Given the description of an element on the screen output the (x, y) to click on. 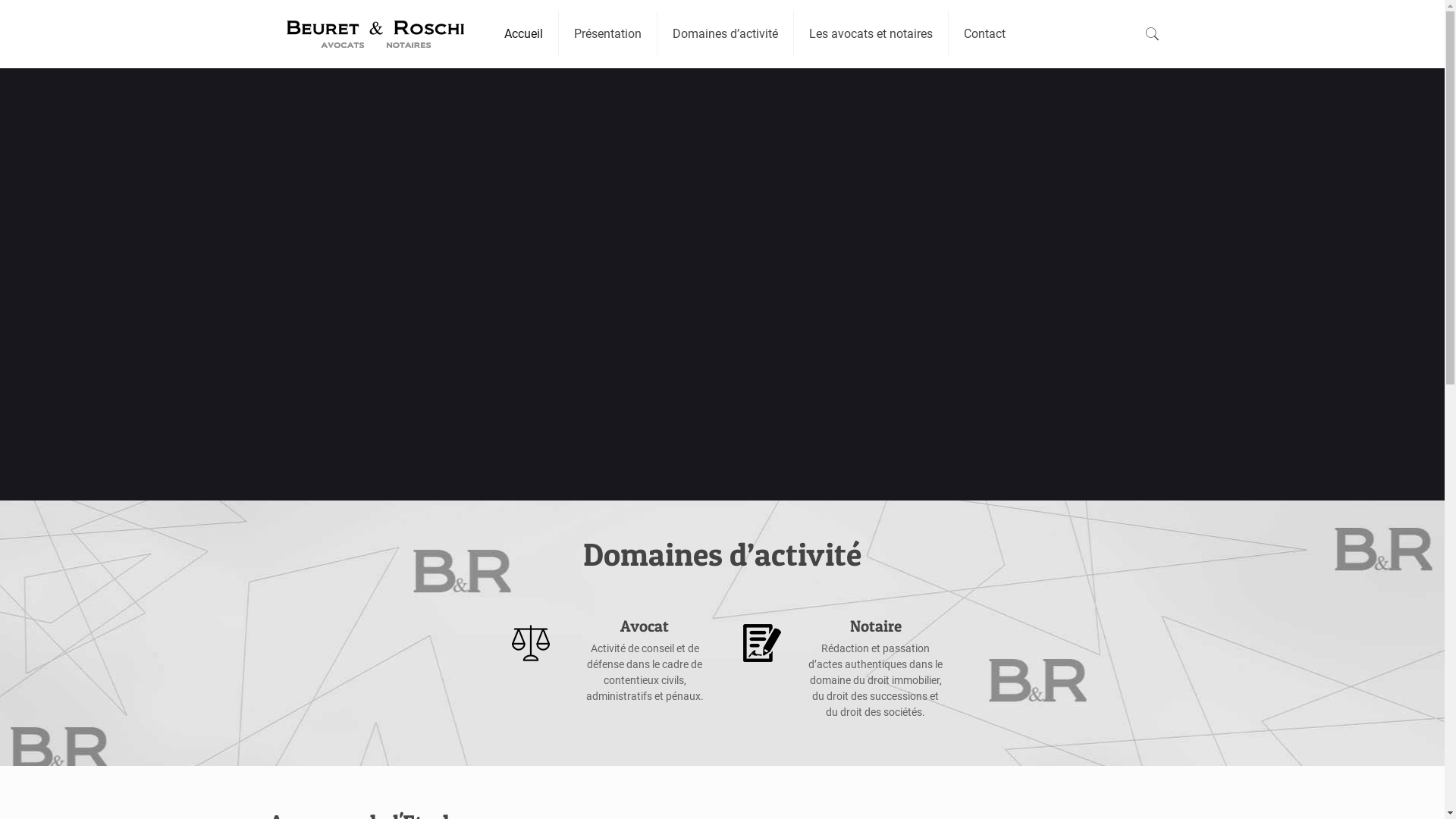
Contact Element type: text (984, 34)
Accueil Element type: text (523, 34)
Etude Beuret & Roschi Element type: hover (375, 34)
Les avocats et notaires Element type: text (870, 34)
